Given the description of an element on the screen output the (x, y) to click on. 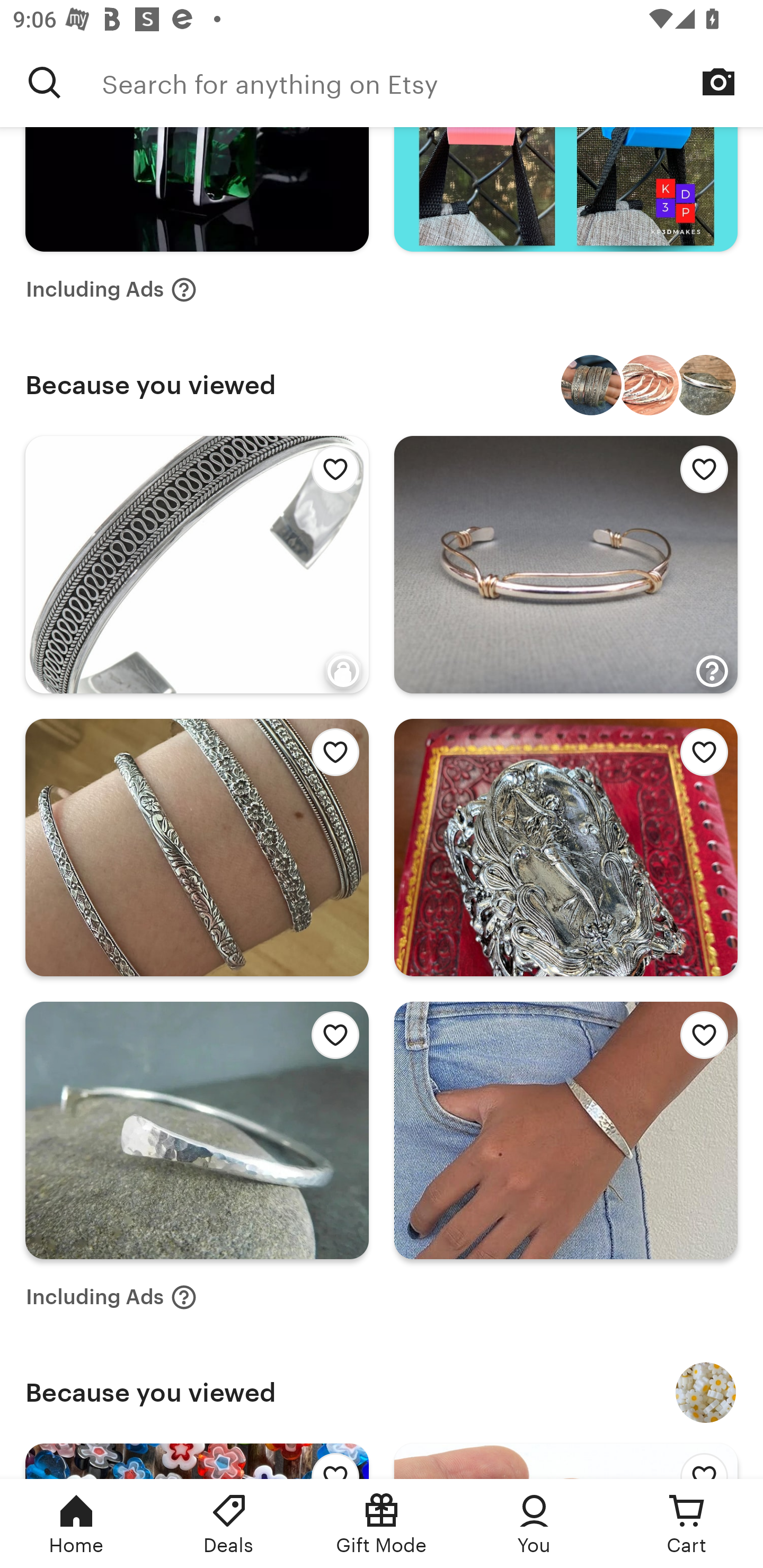
Search for anything on Etsy (44, 82)
Search by image (718, 81)
Search for anything on Etsy (432, 82)
Including Ads (111, 288)
Including Ads (111, 1297)
Millefiori Glass Daisy Flower Beads (705, 1392)
Deals (228, 1523)
Gift Mode (381, 1523)
You (533, 1523)
Cart (686, 1523)
